Given the description of an element on the screen output the (x, y) to click on. 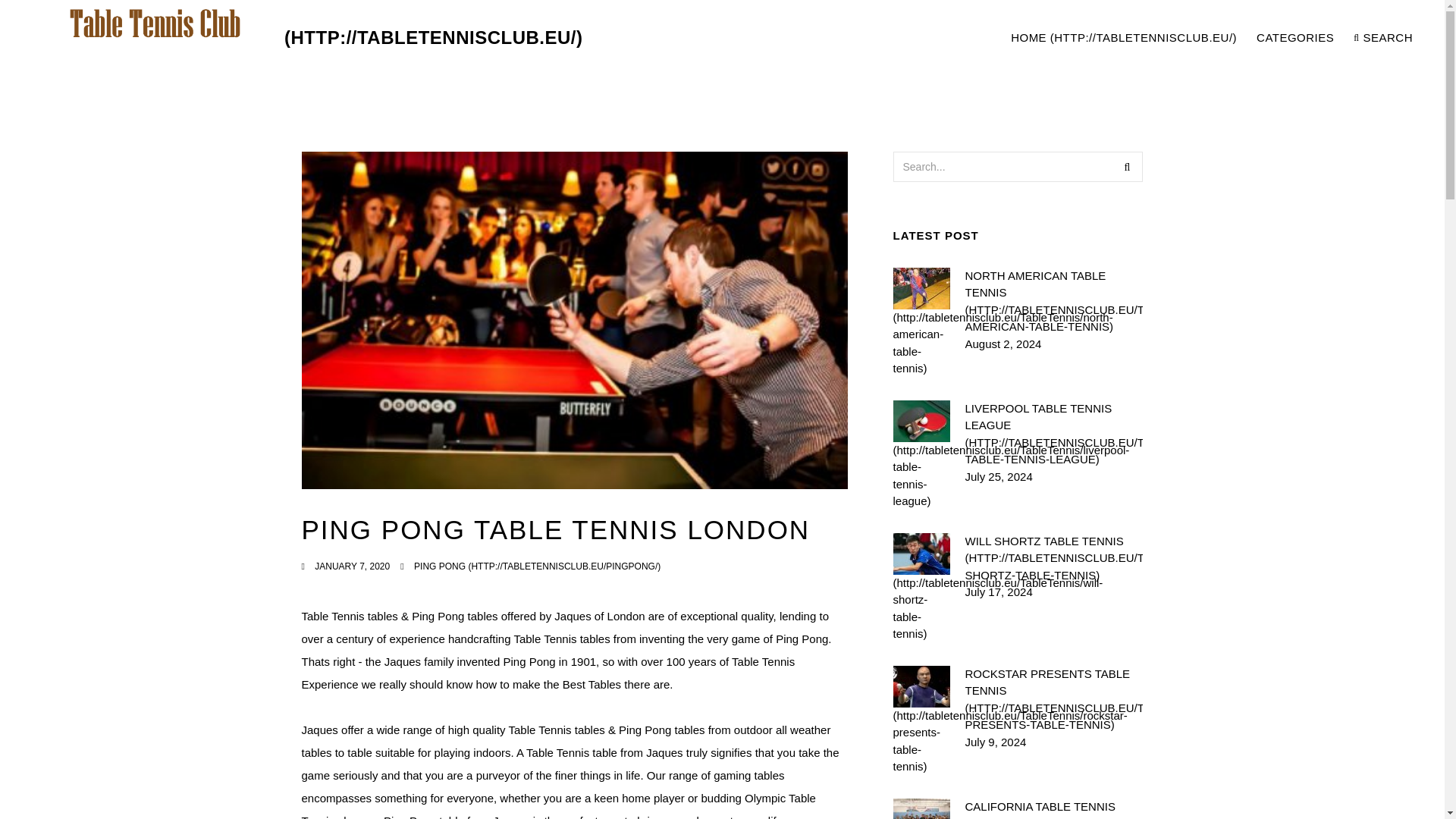
Search (1126, 166)
HOME (1123, 38)
Table Tennis Club (303, 38)
SEARCH (1382, 38)
CATEGORIES (1294, 38)
WILL SHORTZ TABLE TENNIS (1052, 557)
PING PONG (537, 566)
CALIFORNIA TABLE TENNIS (1052, 808)
NORTH AMERICAN TABLE TENNIS (1052, 300)
LIVERPOOL TABLE TENNIS LEAGUE (1052, 434)
ROCKSTAR PRESENTS TABLE TENNIS (1052, 699)
